Given the description of an element on the screen output the (x, y) to click on. 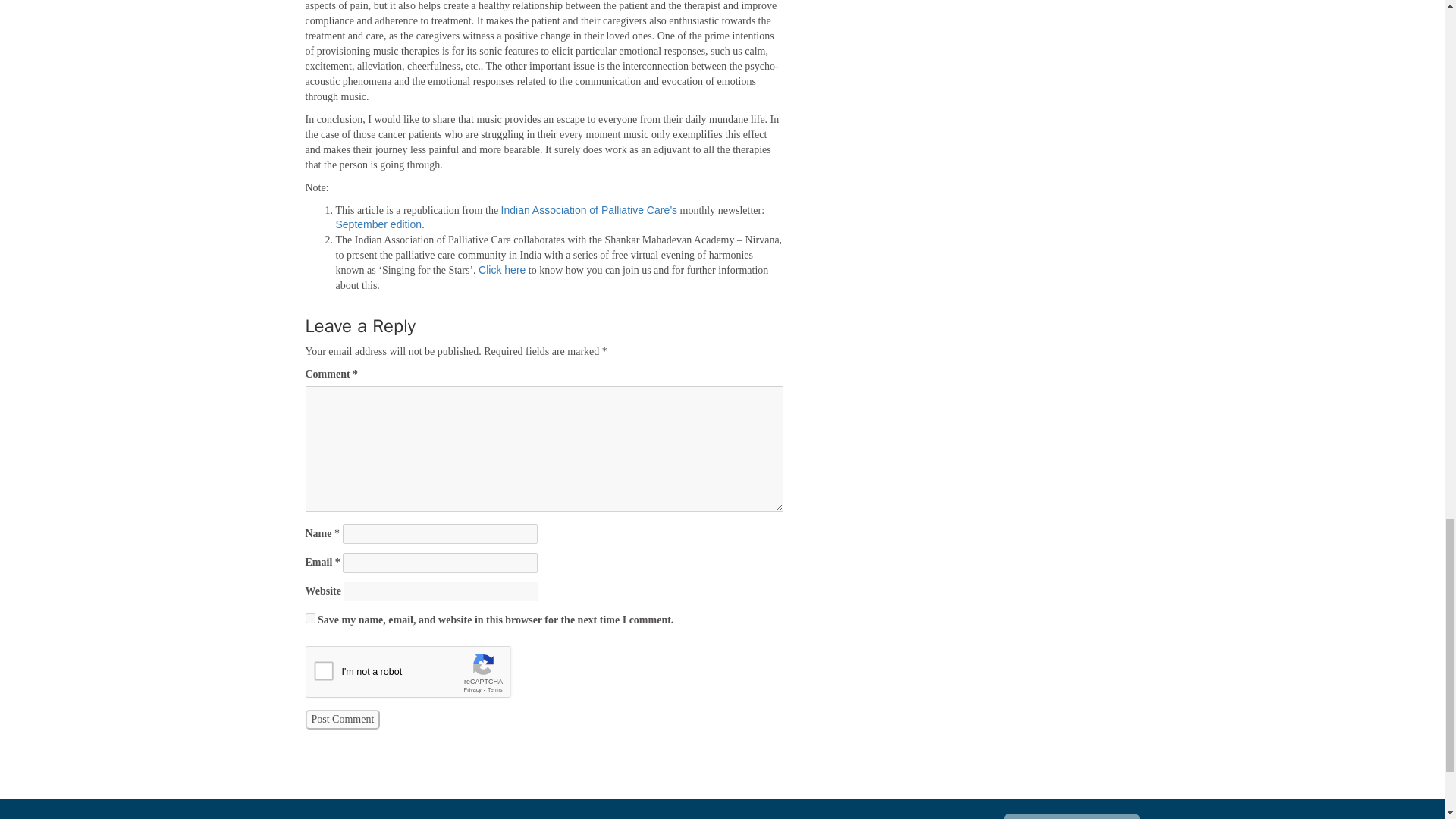
reCAPTCHA (419, 675)
yes (309, 618)
Post Comment (342, 719)
